Given the description of an element on the screen output the (x, y) to click on. 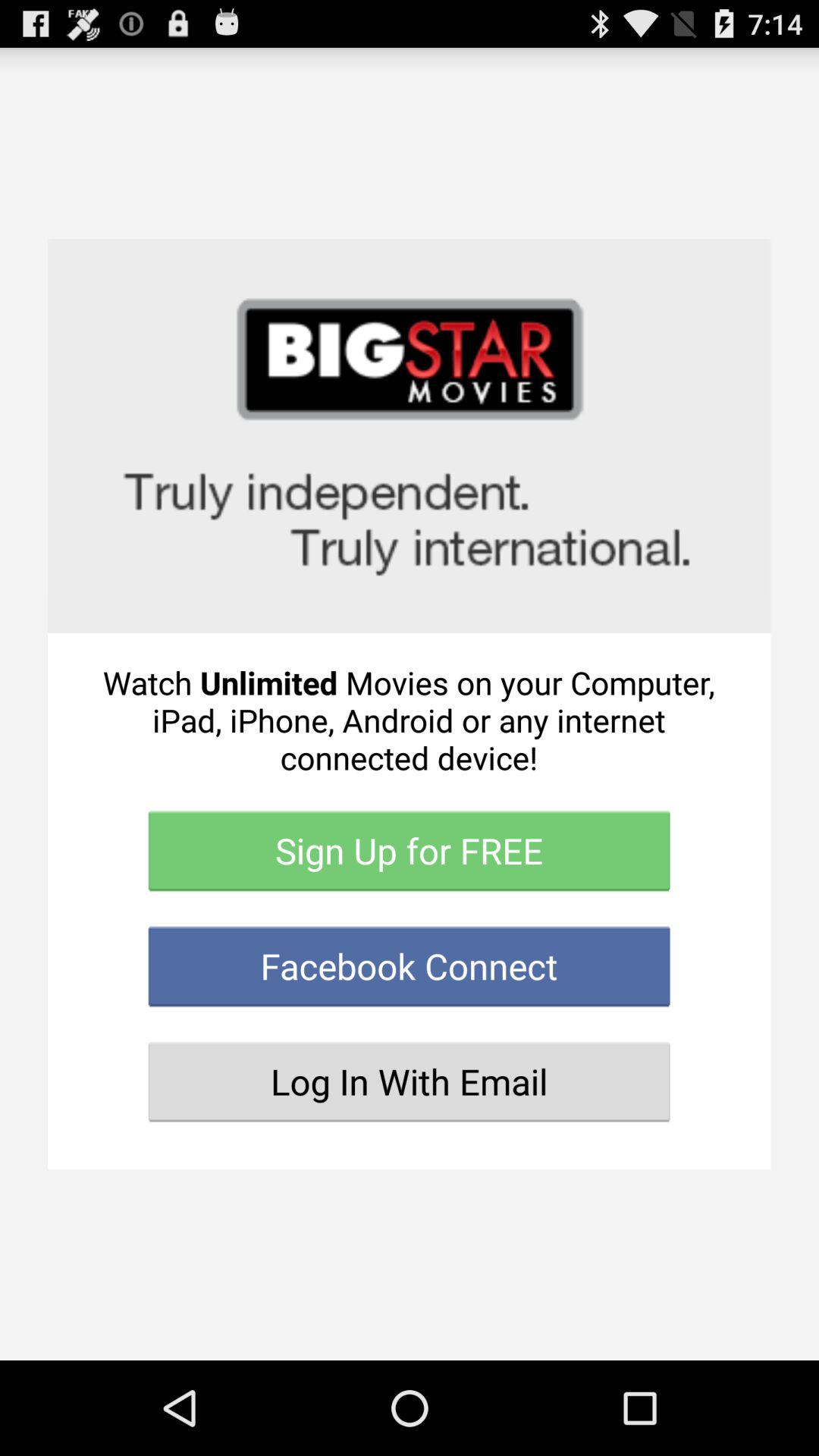
select facebook connect icon (408, 966)
